Given the description of an element on the screen output the (x, y) to click on. 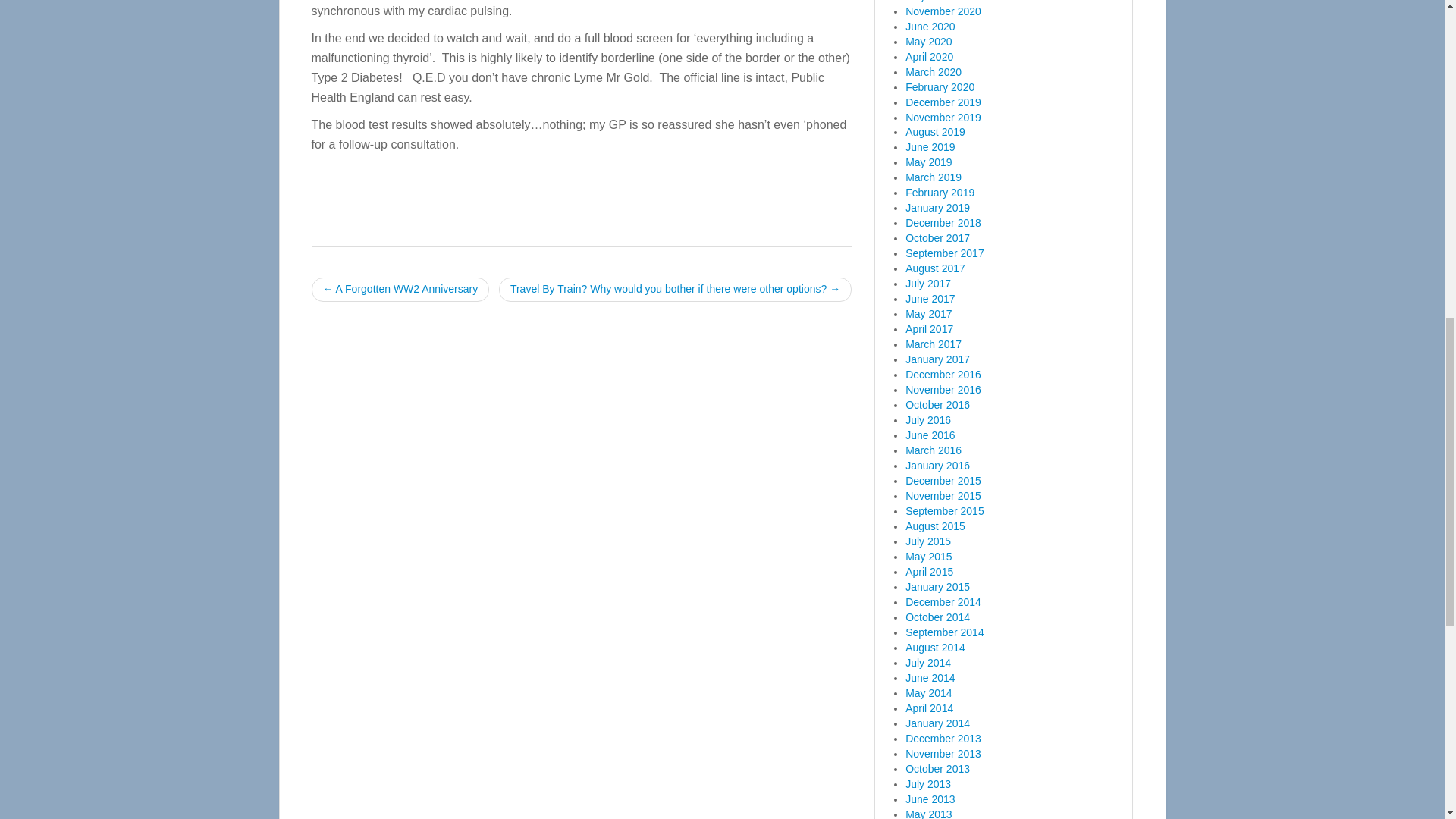
November 2020 (943, 10)
June 2020 (930, 26)
May 2022 (928, 1)
